Given the description of an element on the screen output the (x, y) to click on. 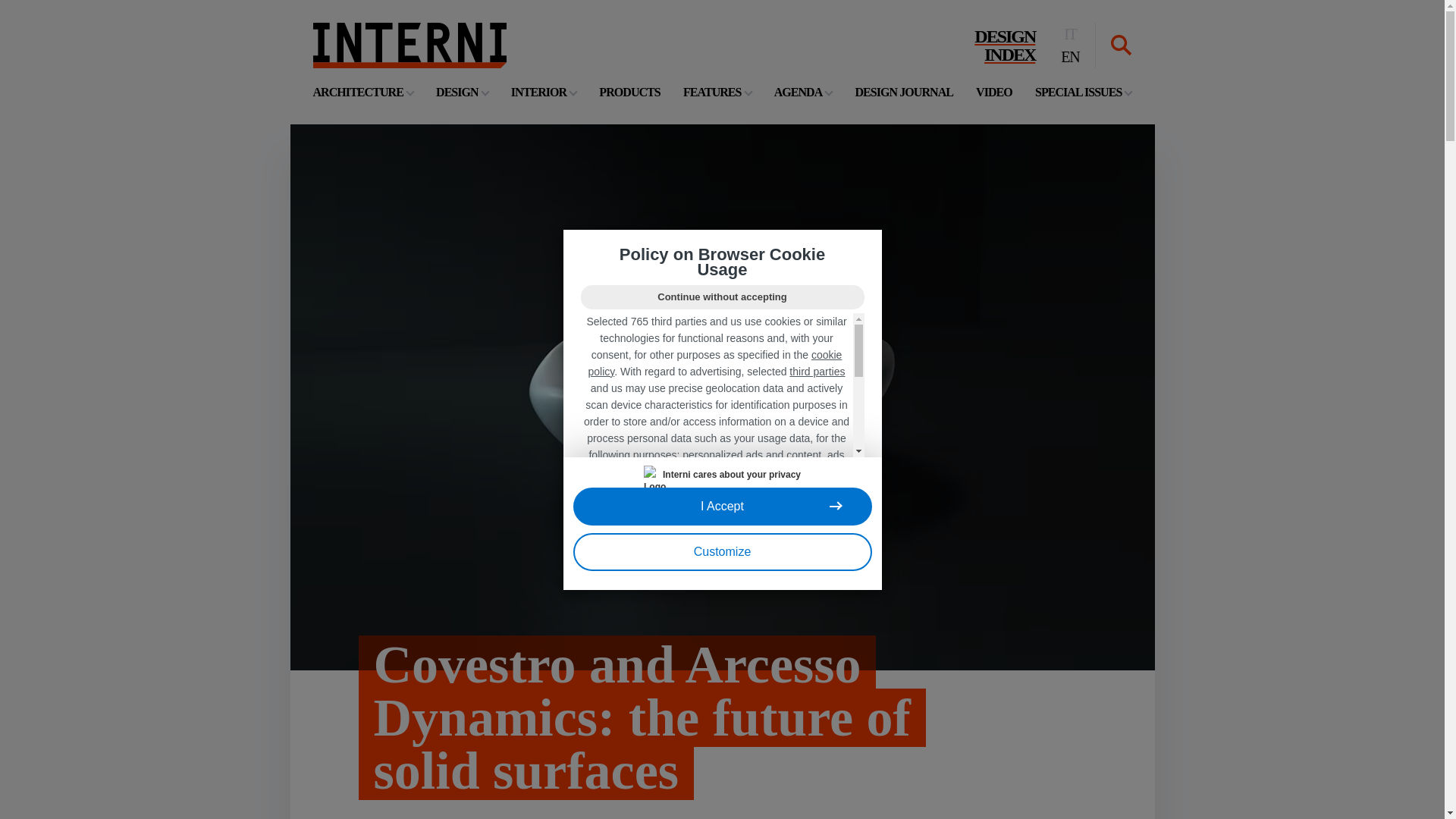
AGENDA (803, 91)
Covestro and Arcesso Dynamics: the future of solid surfaces (691, 717)
ARCHITECTURE (1004, 45)
FEATURES (362, 91)
interni magazine (716, 91)
PRODUCTS (409, 44)
INTERIOR (629, 91)
DESIGN JOURNAL (543, 91)
SPECIAL ISSUES (903, 91)
